Given the description of an element on the screen output the (x, y) to click on. 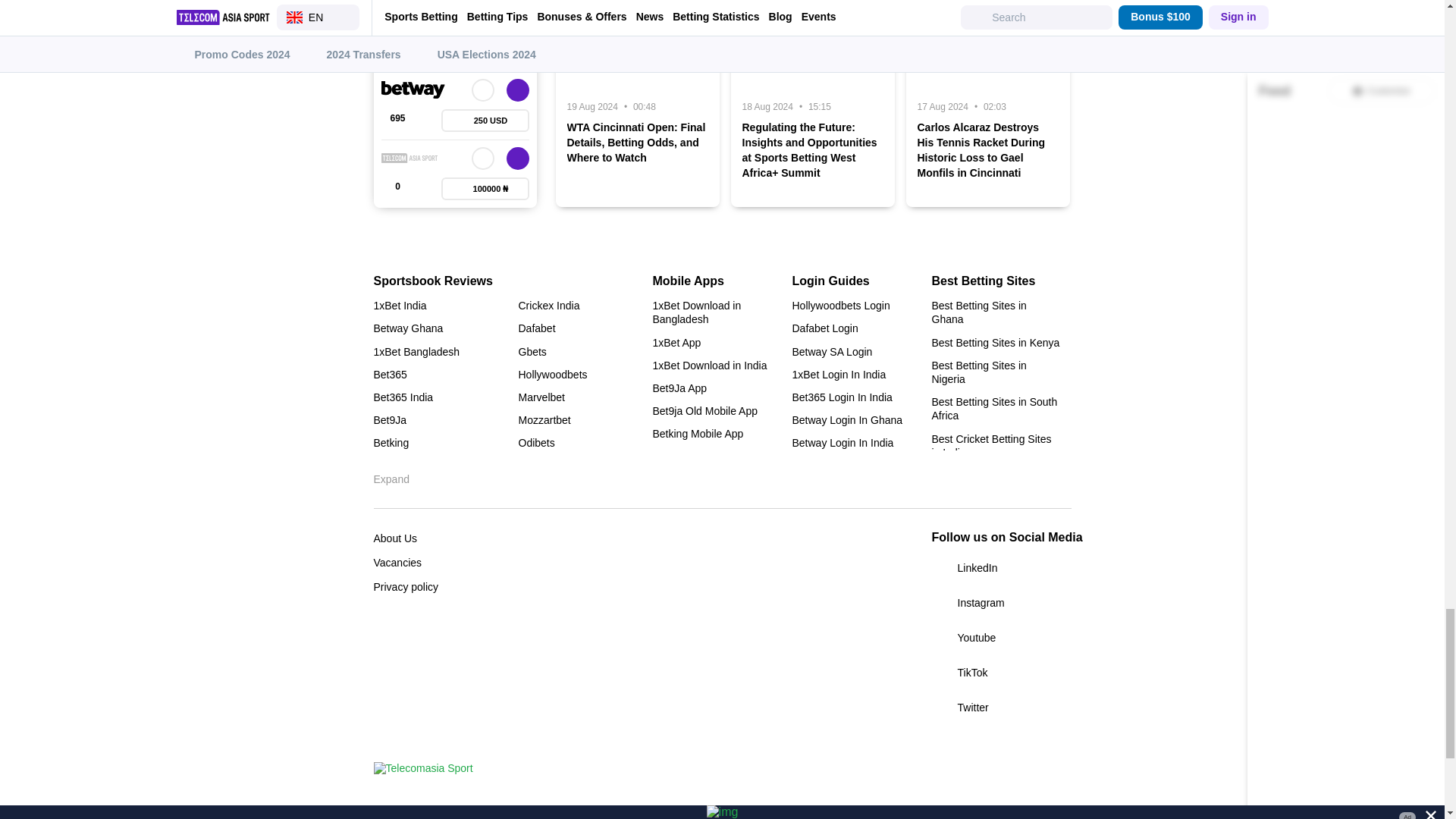
LinkedIn (1000, 567)
Instagram (1000, 602)
Youtube (1000, 637)
TikTok (1000, 672)
